Given the description of an element on the screen output the (x, y) to click on. 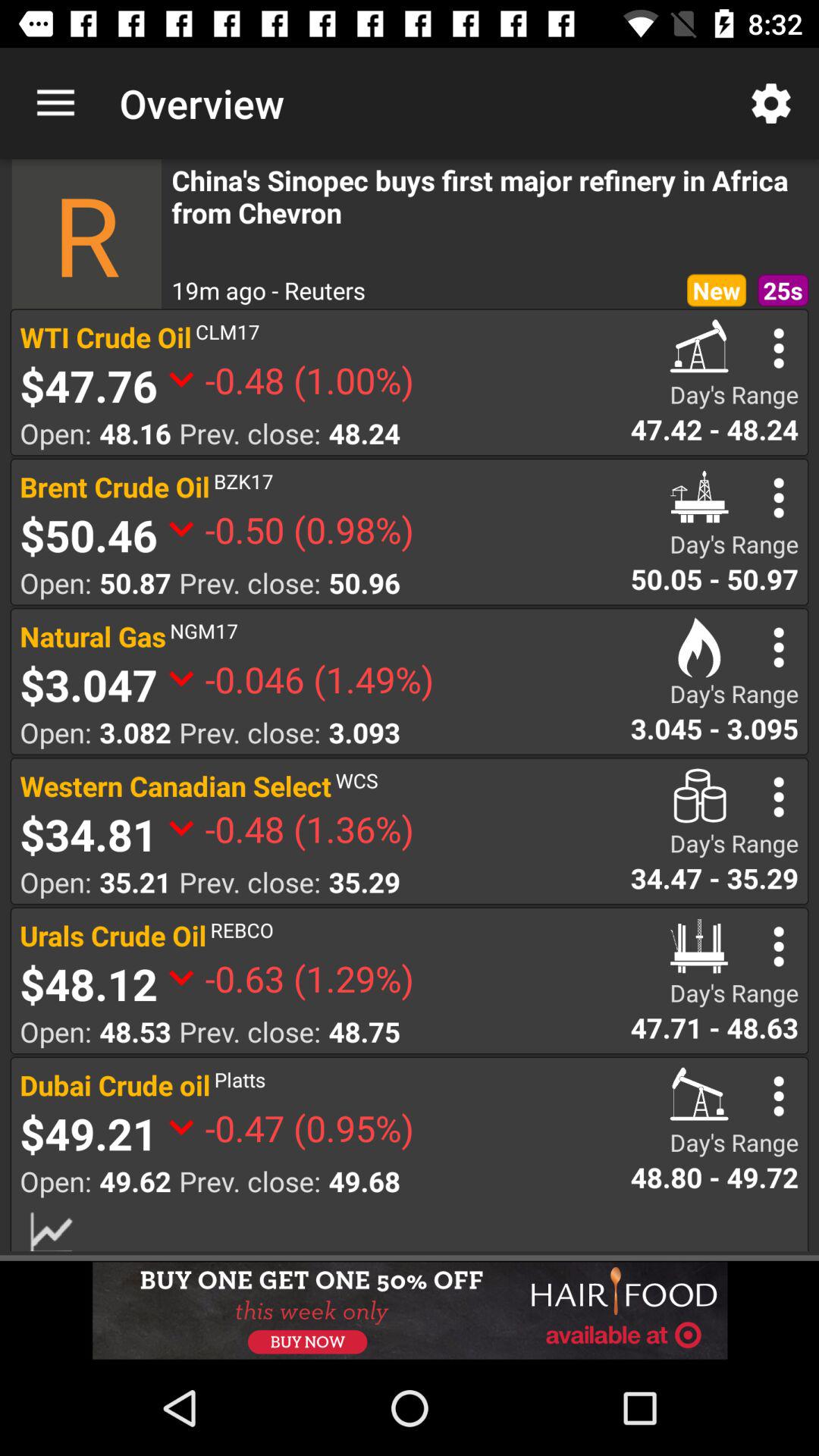
go to search option (778, 647)
